Given the description of an element on the screen output the (x, y) to click on. 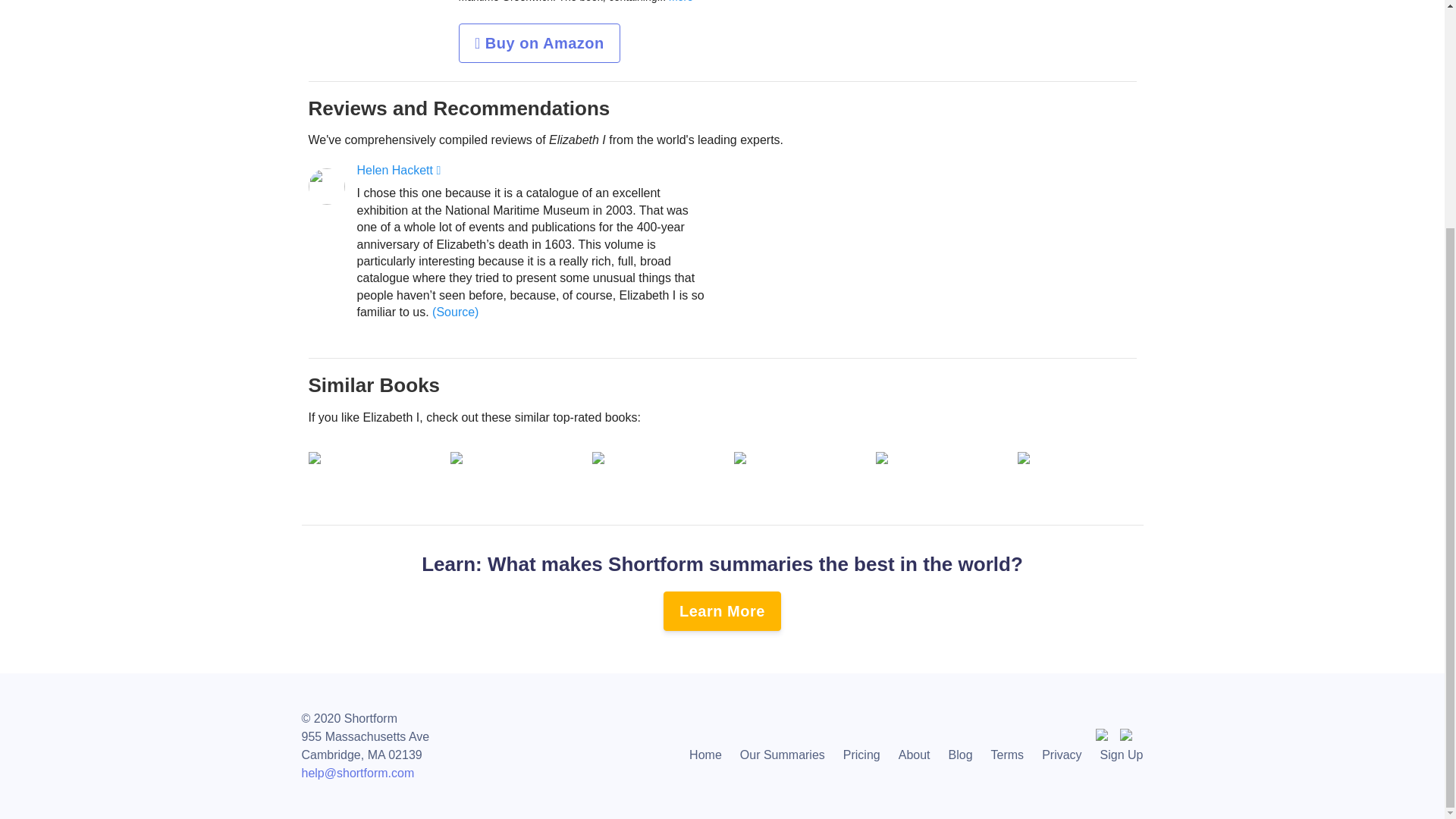
Blog (960, 754)
Helen Hackett (398, 169)
more (679, 1)
Buy on Amazon (539, 43)
Privacy (1061, 754)
Terms (1007, 754)
Learn More (721, 610)
Home (704, 754)
Pricing (861, 754)
Our Summaries (782, 754)
About (914, 754)
Sign Up (1116, 754)
